Given the description of an element on the screen output the (x, y) to click on. 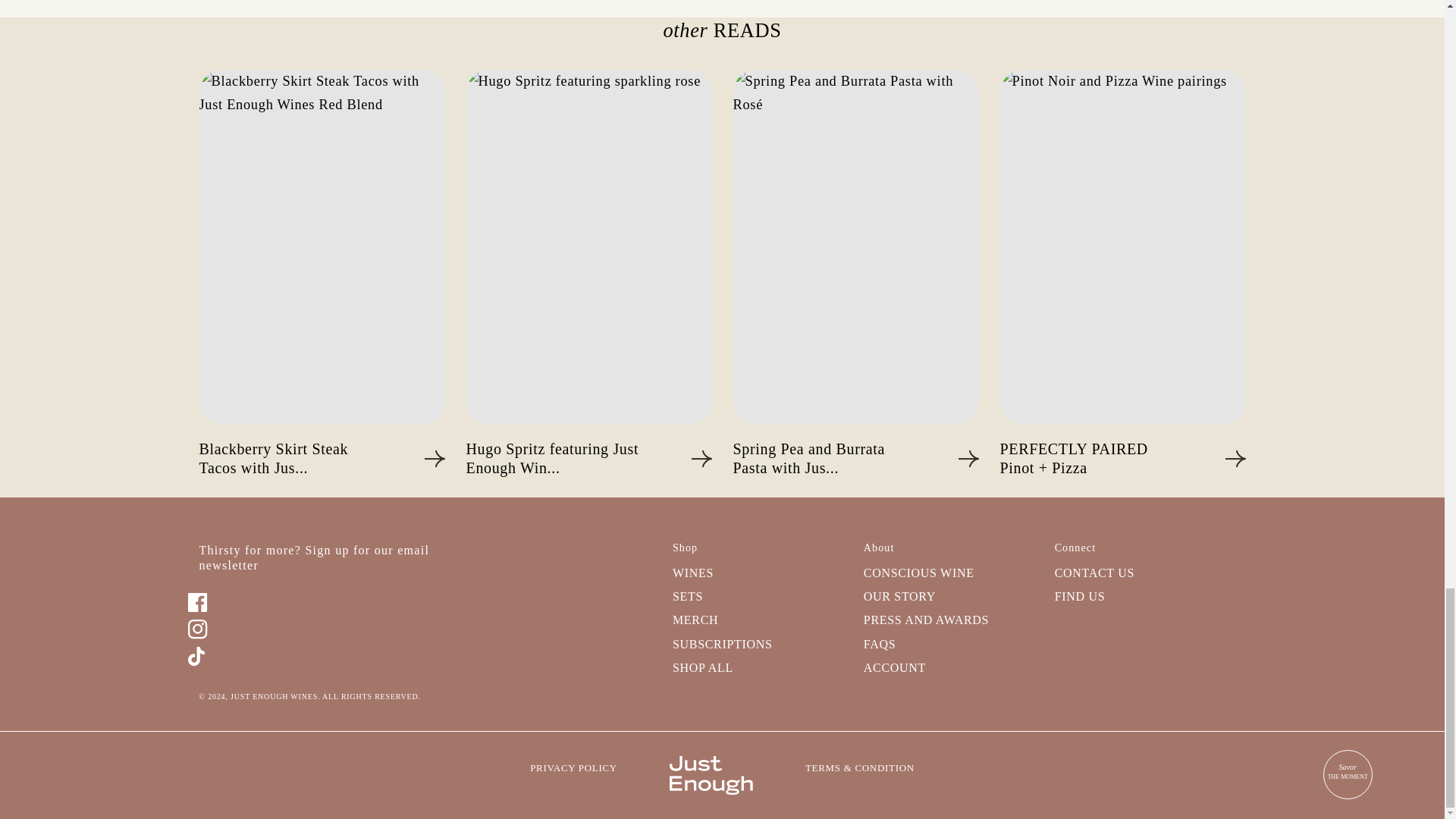
Blackberry Skirt Steak Tacos with Jus... (321, 458)
Hugo Spritz featuring Just Enough Win... (588, 458)
Spring Pea and Burrata Pasta with Jus... (855, 458)
